Given the description of an element on the screen output the (x, y) to click on. 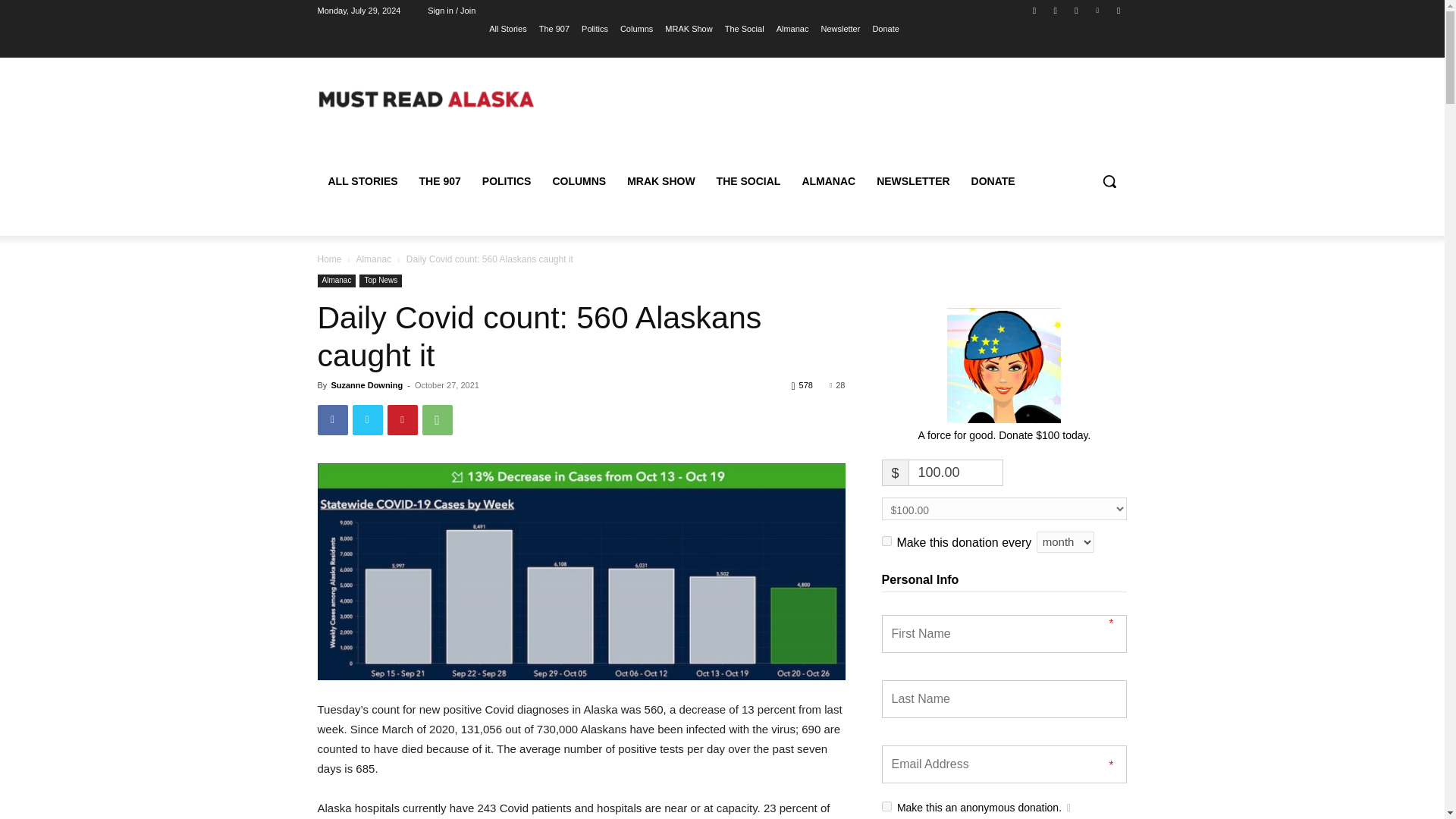
Twitter (1075, 9)
on (885, 541)
Columns (636, 28)
Instagram (1055, 9)
THE SOCIAL (749, 180)
POLITICS (506, 180)
MRAK SHOW (659, 180)
Vimeo (1097, 9)
Columns (636, 28)
DONATE (993, 180)
ALL STORIES (362, 180)
View all posts in Almanac (373, 258)
ALMANAC (828, 180)
Sign up now for our newsletter (840, 28)
The 907 (553, 28)
